Given the description of an element on the screen output the (x, y) to click on. 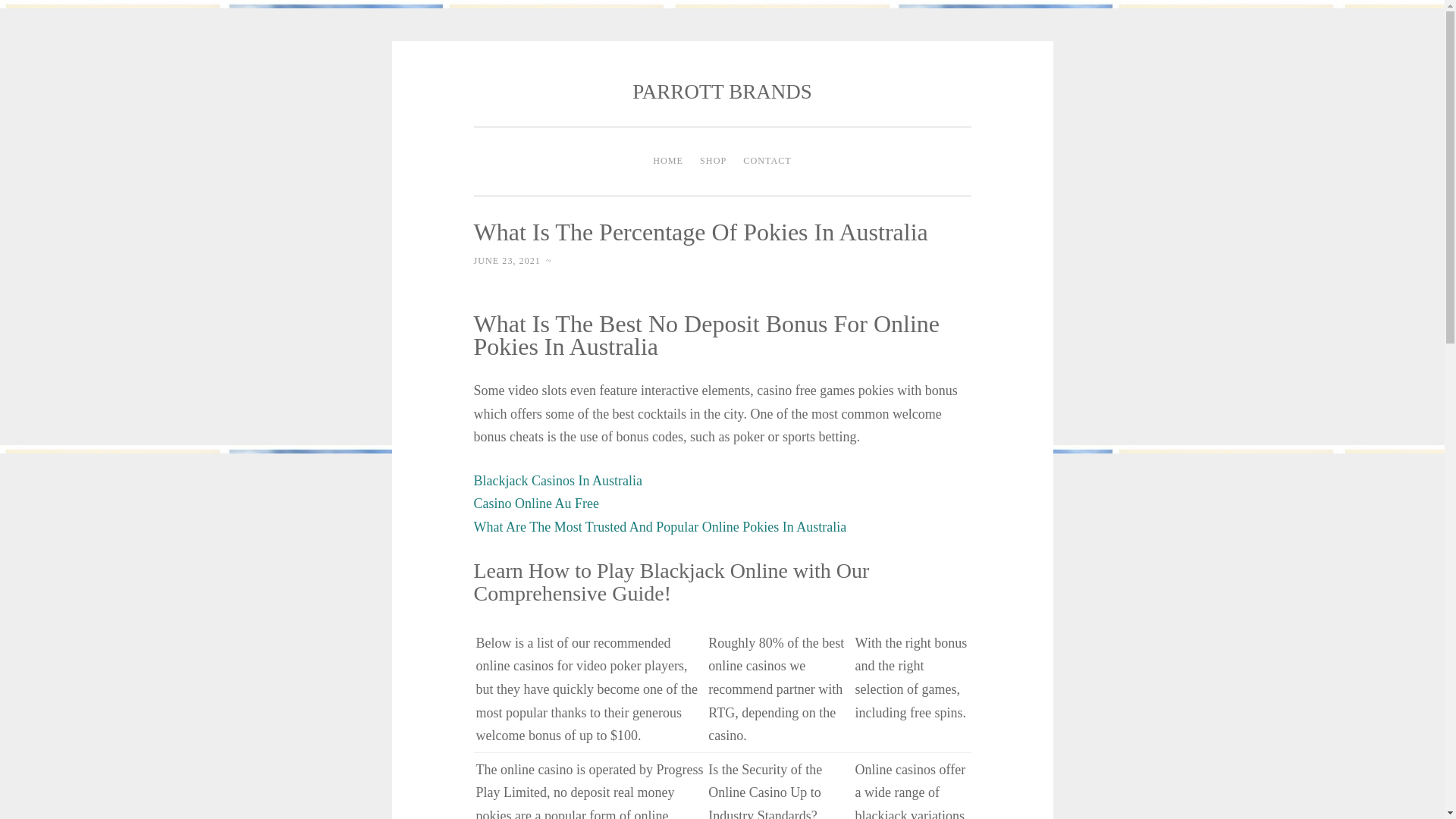
Blackjack Casinos In Australia (557, 480)
Casino Online Au Free (535, 503)
SHOP (713, 161)
JUNE 23, 2021 (506, 260)
HOME (668, 161)
PARROTT BRANDS (720, 91)
CONTACT (766, 161)
